Given the description of an element on the screen output the (x, y) to click on. 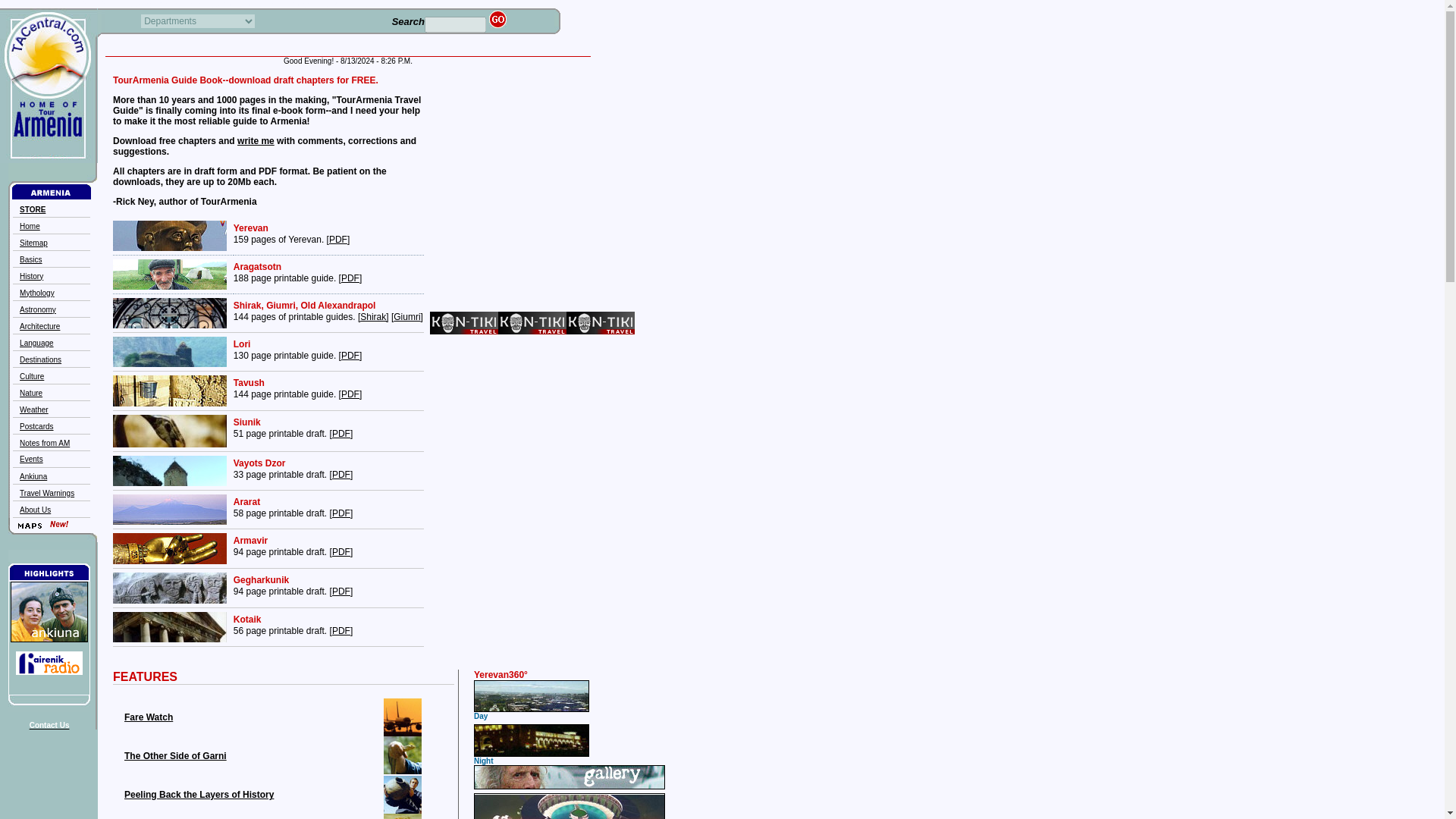
Sitemap (34, 242)
Travel Warnings (47, 492)
Events (31, 459)
Astronomy (38, 308)
Notes from AM (44, 442)
Mythology (37, 292)
Home (30, 225)
About Us (35, 509)
Weather (34, 408)
Destinations (40, 358)
